Given the description of an element on the screen output the (x, y) to click on. 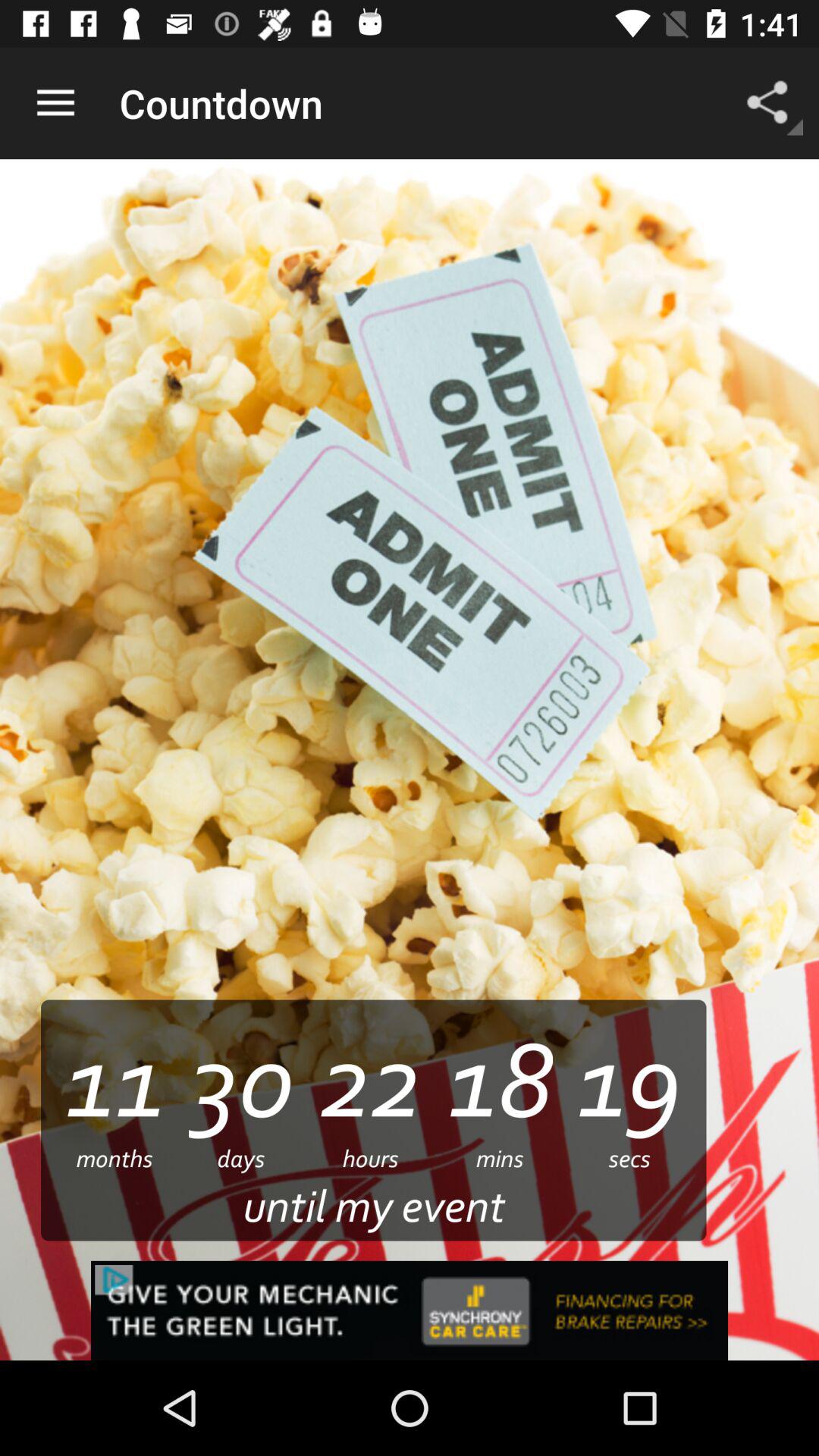
view synchrony car care advertisement (409, 1310)
